Given the description of an element on the screen output the (x, y) to click on. 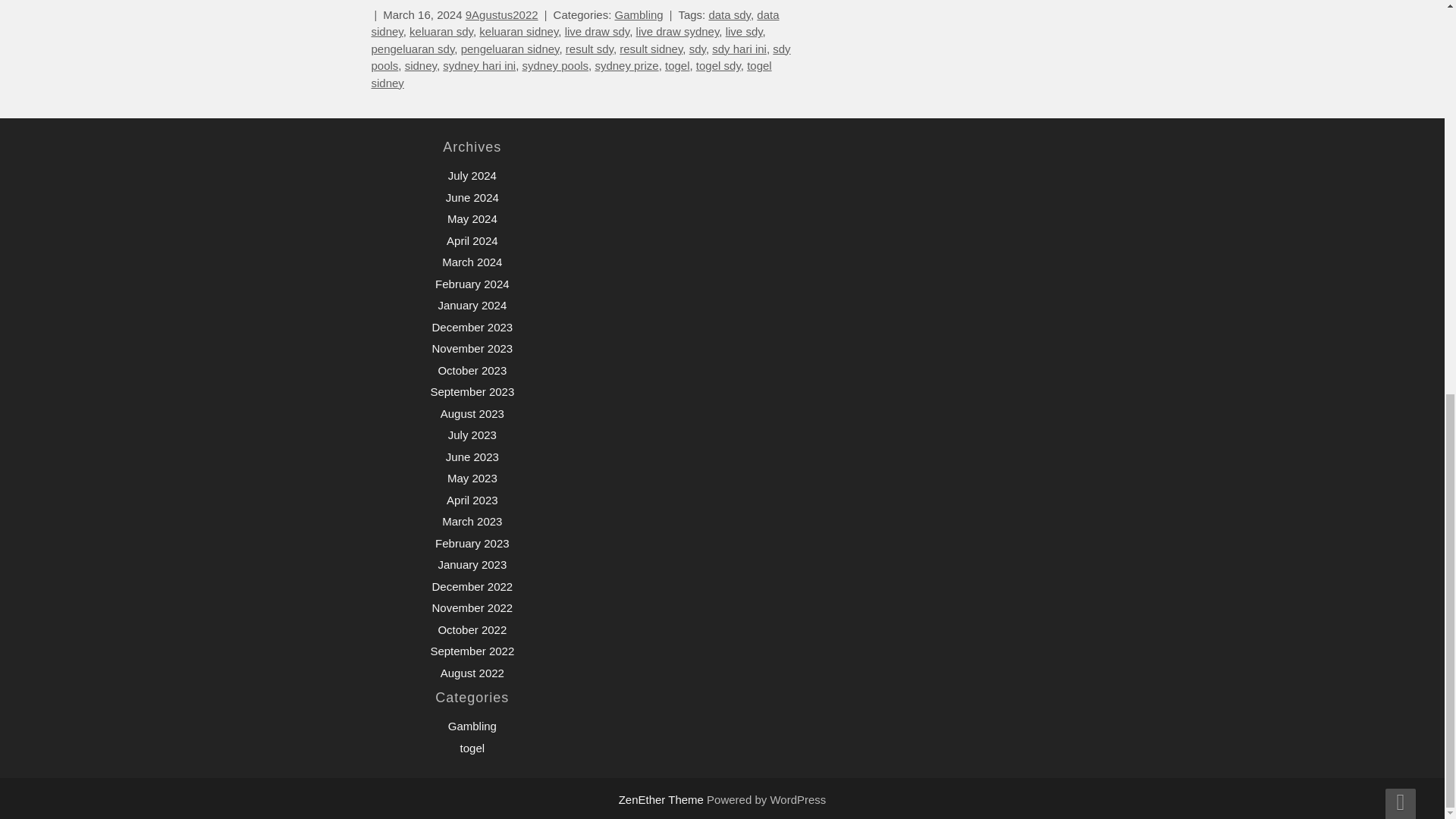
July 2024 (472, 174)
sidney (420, 65)
sydney hari ini (478, 65)
data sidney (574, 23)
live draw sydney (677, 31)
keluaran sidney (518, 31)
May 2024 (471, 218)
Gambling (638, 14)
result sidney (651, 48)
Posts by 9Agustus2022 (501, 14)
togel sidney (571, 73)
sydney pools (554, 65)
keluaran sdy (441, 31)
sdy hari ini (739, 48)
togel sdy (718, 65)
